Given the description of an element on the screen output the (x, y) to click on. 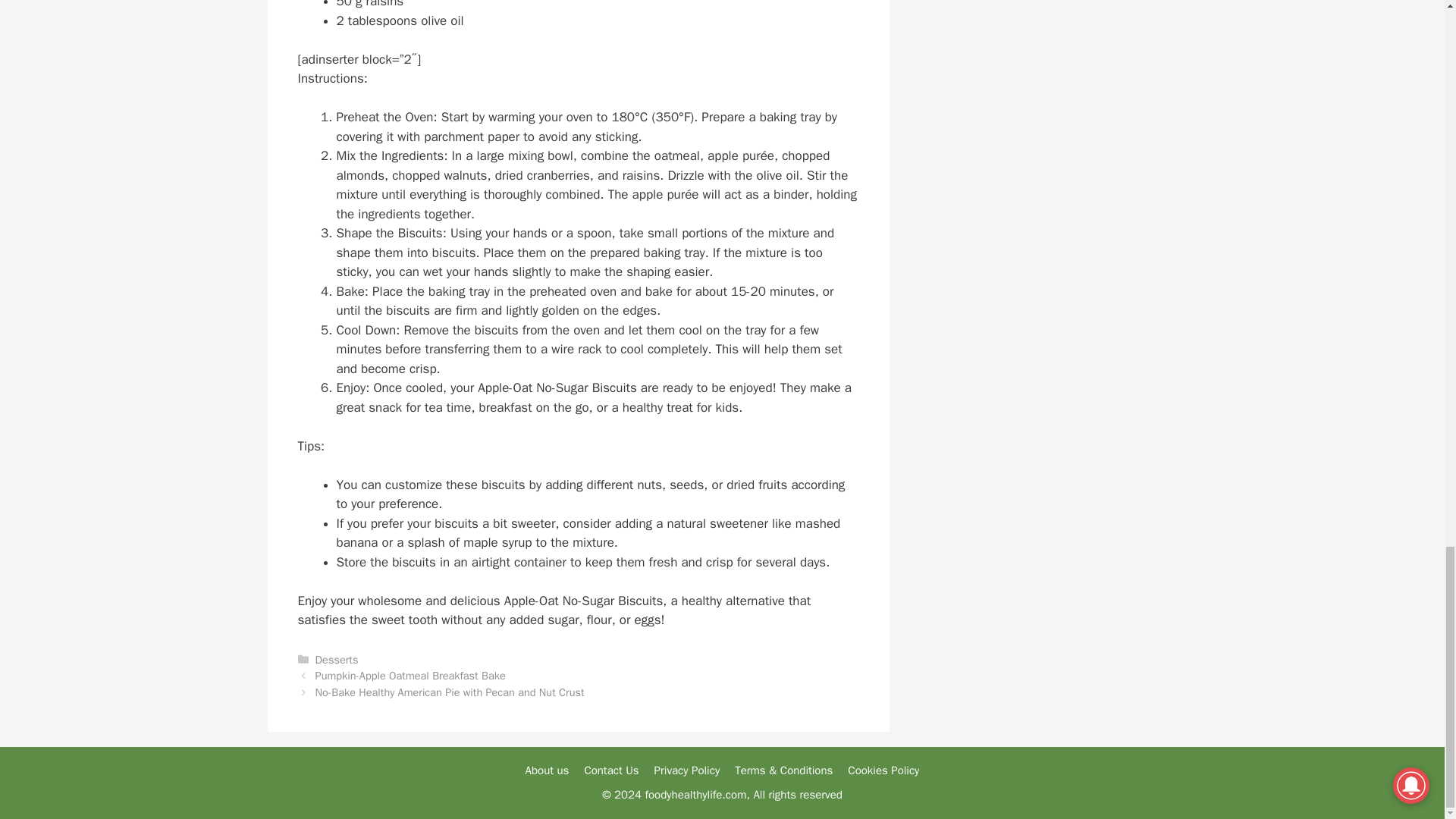
Desserts (336, 659)
No-Bake Healthy American Pie with Pecan and Nut Crust (450, 692)
About us (547, 770)
Contact Us (611, 770)
Cookies Policy (882, 770)
Pumpkin-Apple Oatmeal Breakfast Bake (410, 675)
Privacy Policy (686, 770)
